Given the description of an element on the screen output the (x, y) to click on. 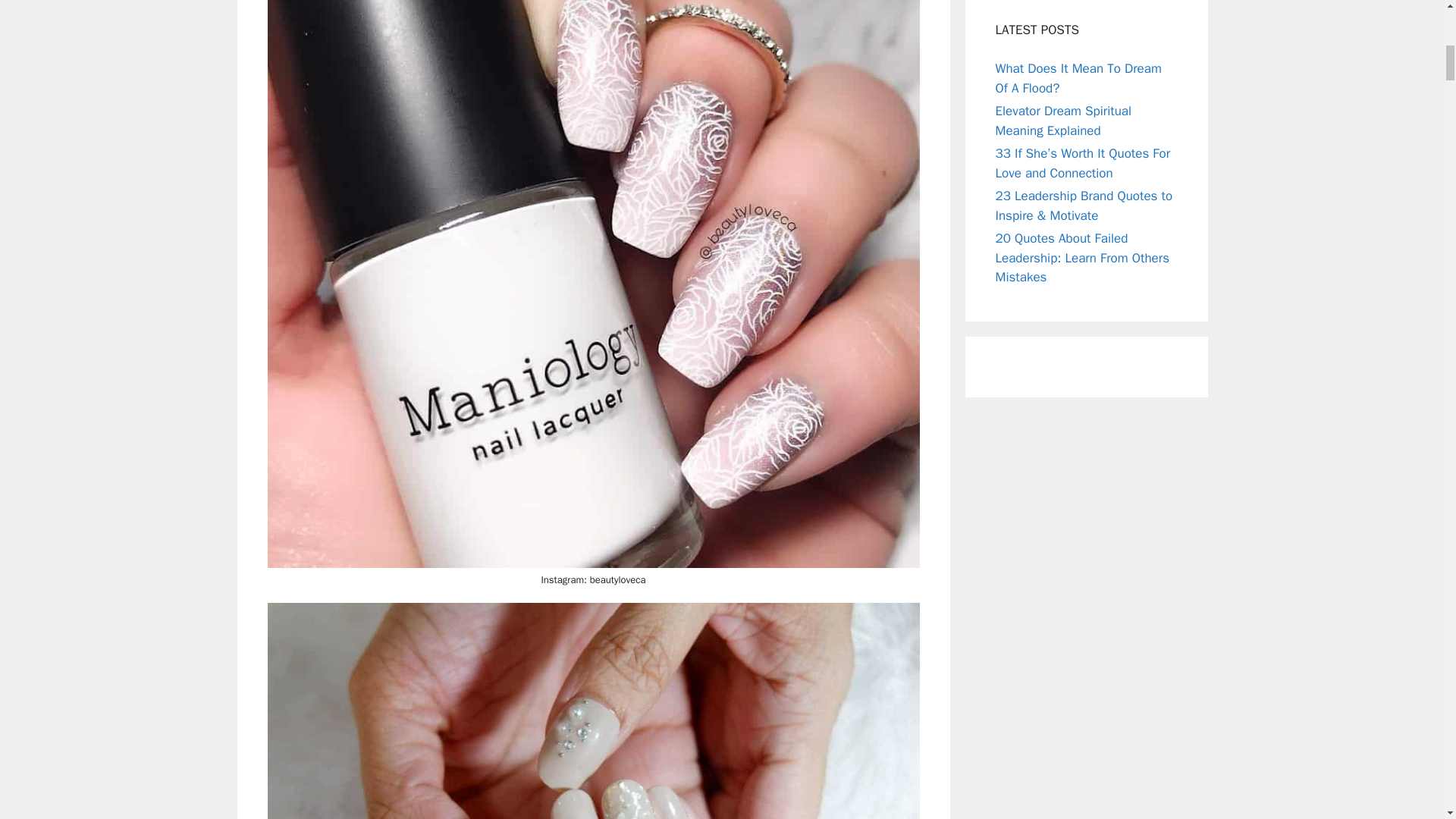
What Does It Mean To Dream Of A Flood? (1077, 78)
Elevator Dream Spiritual Meaning Explained (1062, 120)
